Given the description of an element on the screen output the (x, y) to click on. 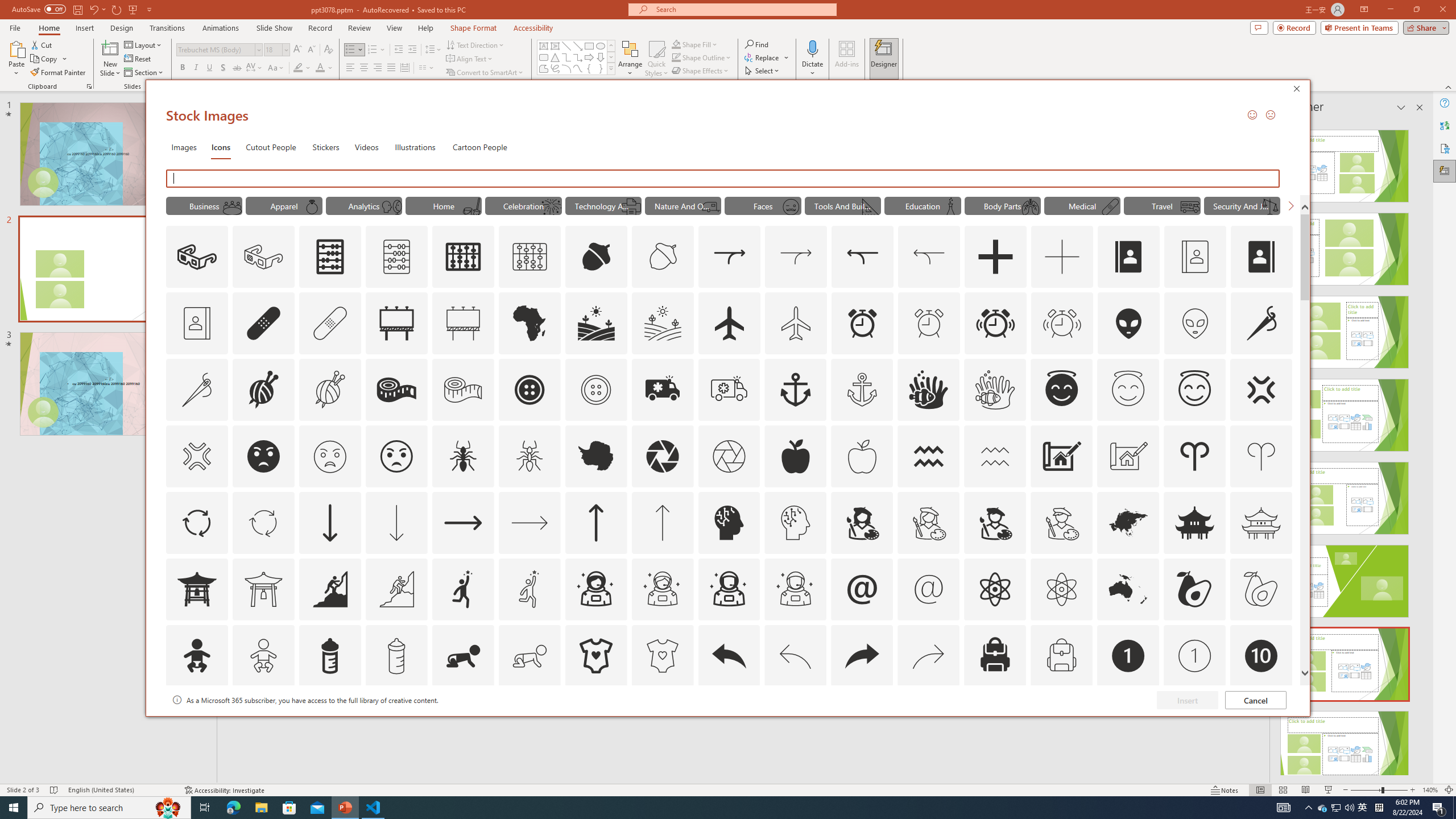
Align Text (470, 58)
Office Clipboard... (88, 85)
AutomationID: Icons_BabyBottle (329, 655)
Clear Formatting (327, 49)
AutomationID: Icons_Badge1_M (1194, 655)
"Education" Icons. (921, 205)
